Given the description of an element on the screen output the (x, y) to click on. 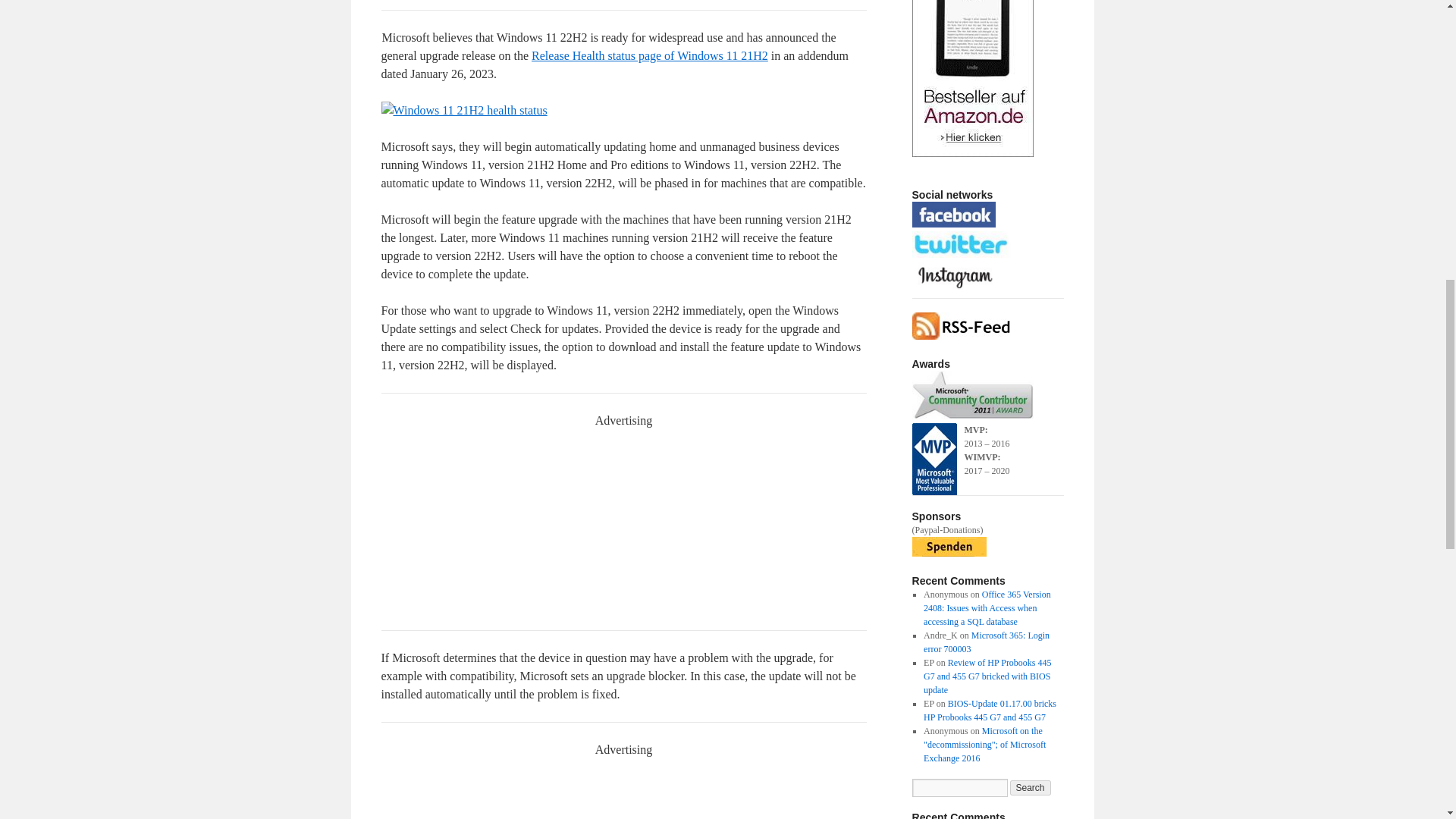
Windows 11 21H2 health status (463, 110)
Release Health status page of Windows 11 21H2 (649, 55)
Search (1030, 787)
